Given the description of an element on the screen output the (x, y) to click on. 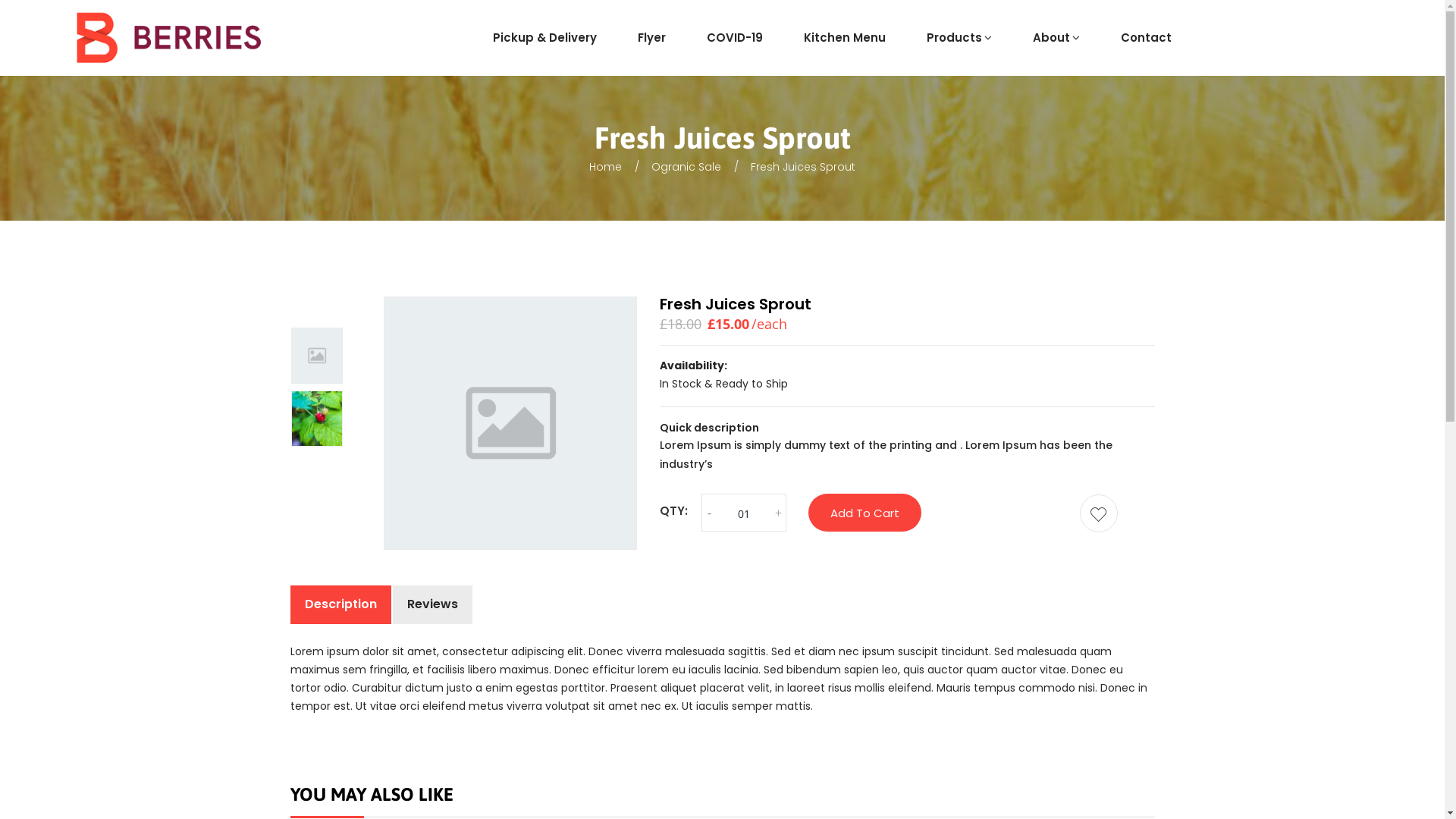
image_large Element type: hover (316, 355)
blog-1 Element type: hover (316, 418)
Add To Cart Element type: text (864, 512)
Kitchen Menu Element type: text (844, 37)
Products Element type: text (958, 37)
Contact Element type: text (1145, 37)
COVID-19 Element type: text (734, 37)
+ Element type: text (778, 512)
Description Element type: text (339, 604)
Pickup & Delivery Element type: text (544, 37)
Flyer Element type: text (651, 37)
About Element type: text (1055, 37)
Ogranic Sale Element type: text (686, 166)
Reviews Element type: text (432, 604)
Home Element type: text (605, 166)
- Element type: text (709, 512)
Qty Element type: hover (743, 513)
